Given the description of an element on the screen output the (x, y) to click on. 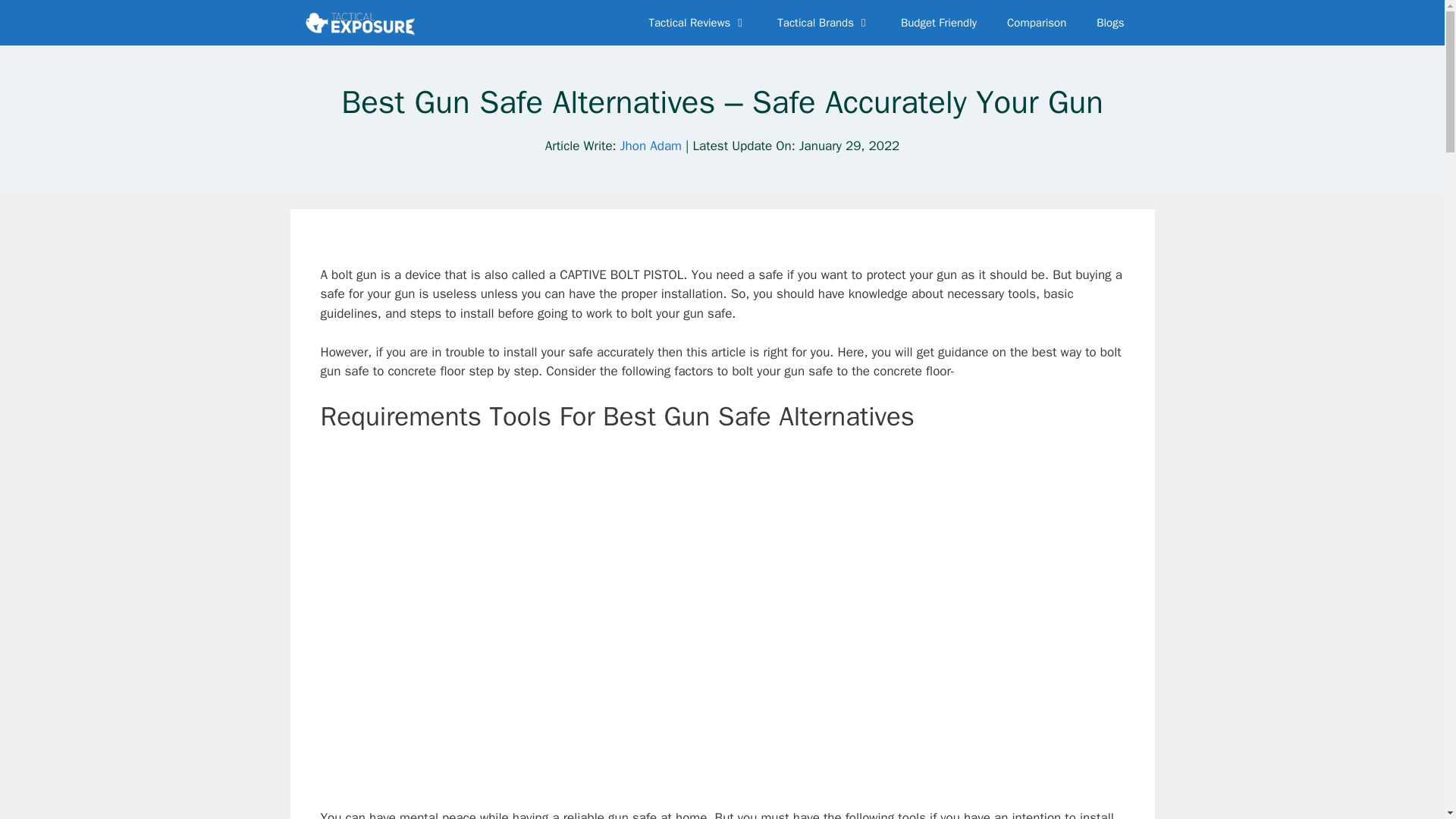
Tactical Exposure (363, 22)
Budget Friendly (938, 22)
Blogs (1109, 22)
Comparison (1036, 22)
Tactical Reviews (697, 22)
Tactical Exposure (360, 22)
Tactical Brands (823, 22)
View all posts by Jhon Adam (650, 145)
Jhon Adam (650, 145)
